Given the description of an element on the screen output the (x, y) to click on. 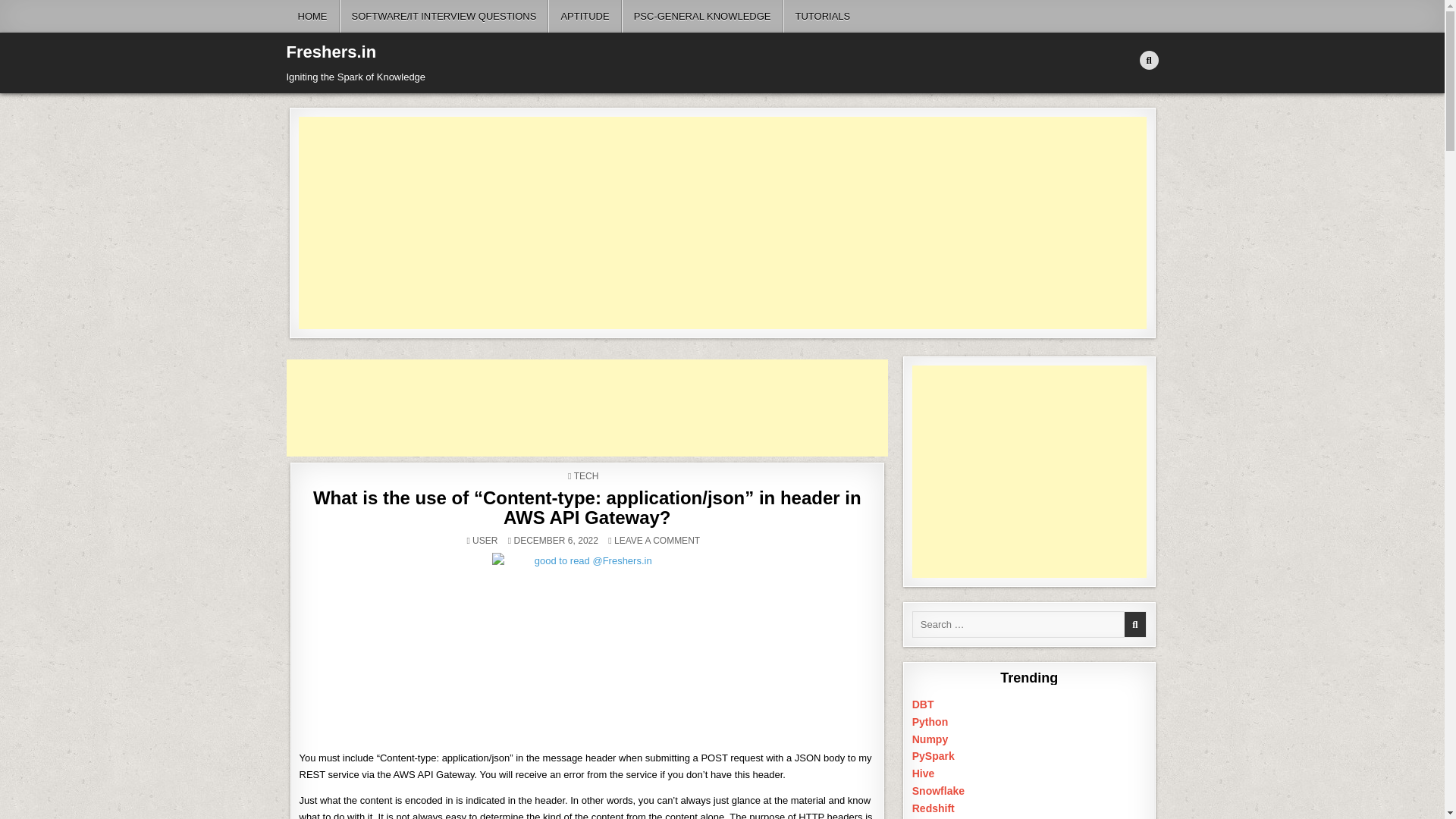
Search (1148, 60)
Advertisement (600, 407)
Freshers.in (331, 51)
PSC-GENERAL KNOWLEDGE (702, 16)
APTITUDE (584, 16)
TECH (585, 475)
USER (484, 540)
HOME (312, 16)
TUTORIALS (822, 16)
